Given the description of an element on the screen output the (x, y) to click on. 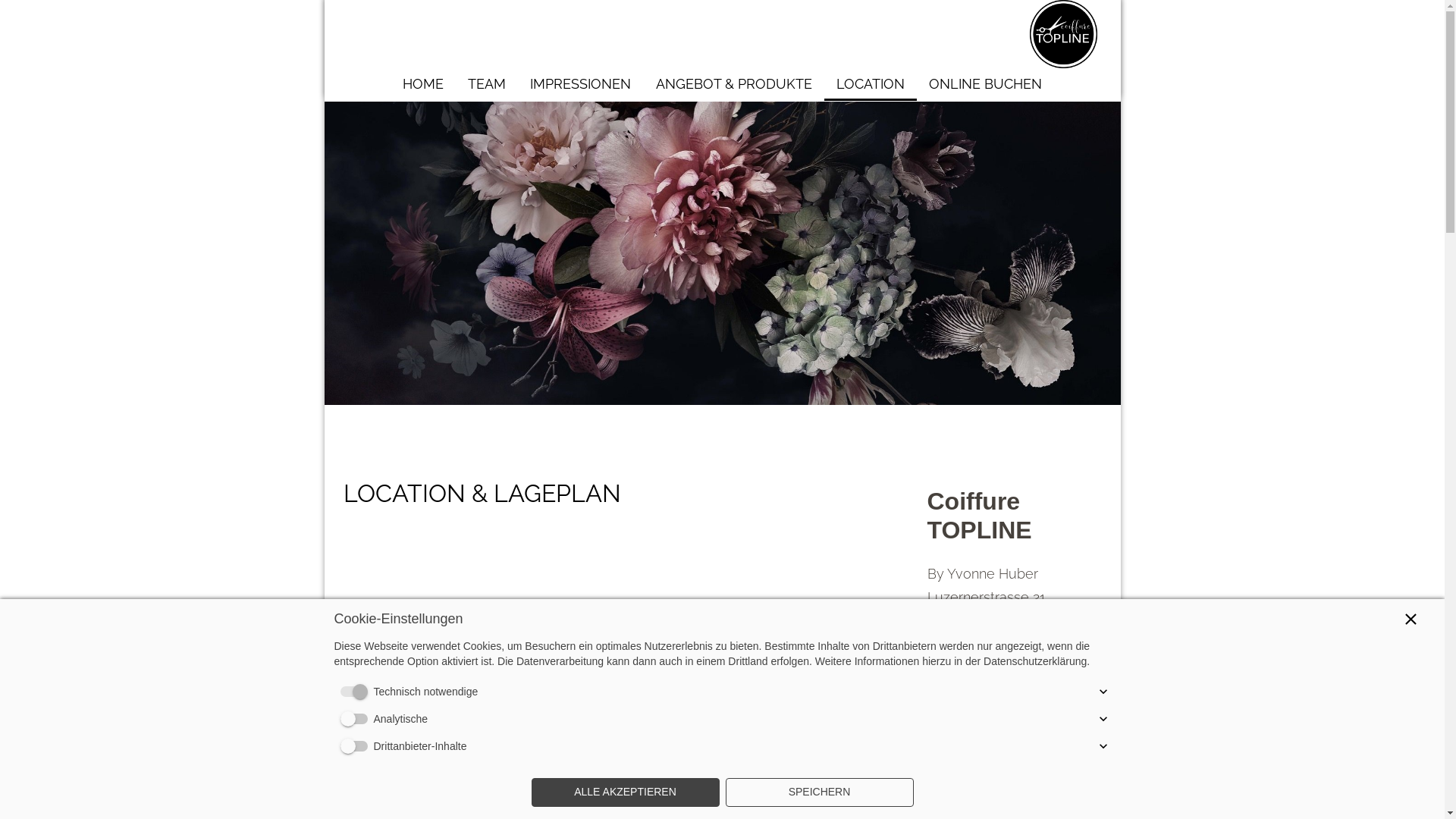
HOME Element type: text (422, 83)
ALLE AKZEPTIEREN Element type: text (624, 792)
IMPRESSIONEN Element type: text (580, 83)
SPEICHERN Element type: text (818, 792)
041 440 88 22 Element type: text (981, 658)
TEAM Element type: text (486, 83)
LOCATION Element type: text (870, 83)
ANGEBOT & PRODUKTE Element type: text (733, 83)
ONLINE BUCHEN Element type: text (985, 83)
